Given the description of an element on the screen output the (x, y) to click on. 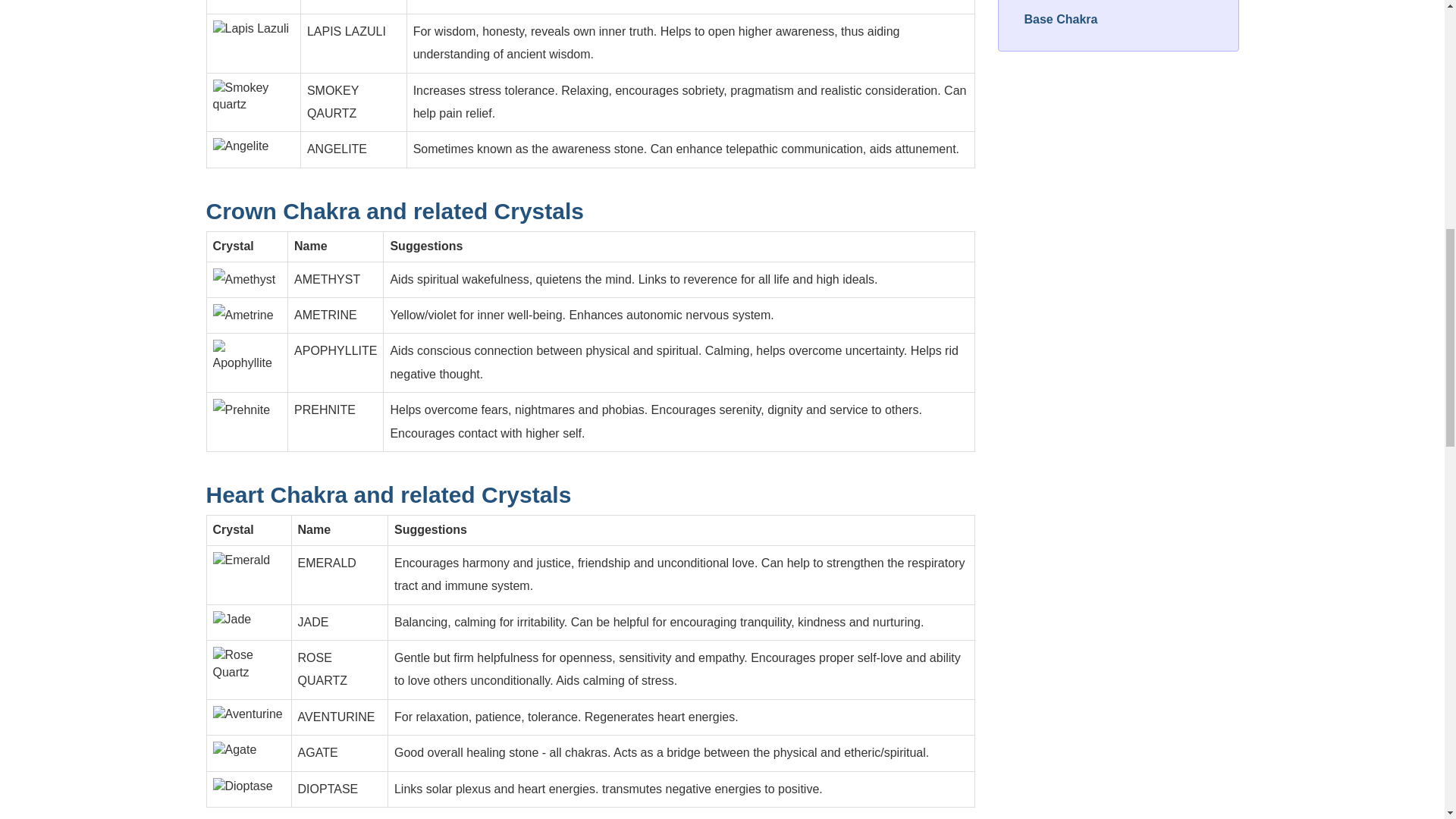
Heart Chakra and related Crystals (389, 494)
Crown Chakra and related Crystals (395, 211)
